Given the description of an element on the screen output the (x, y) to click on. 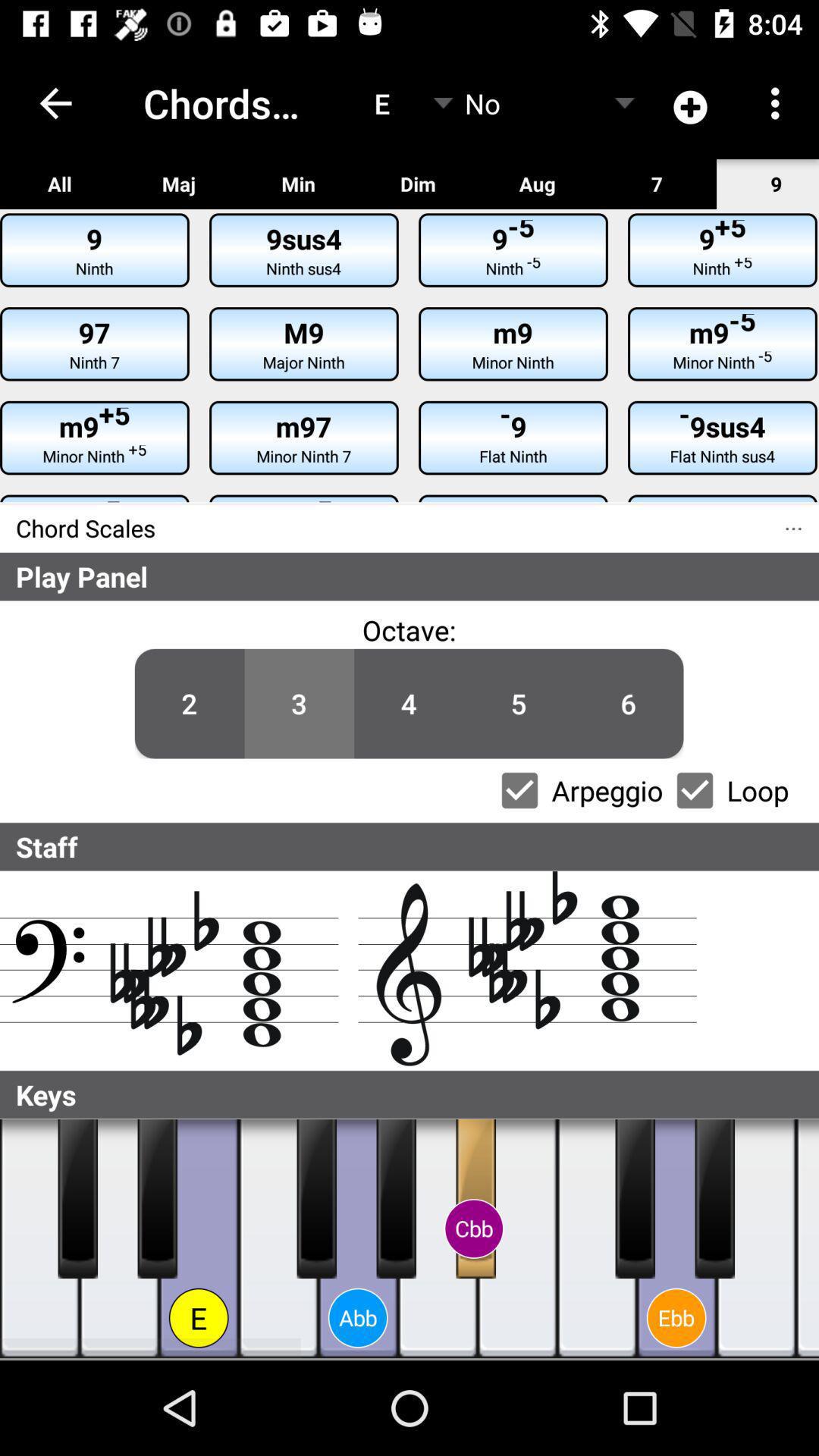
play note (475, 1198)
